Given the description of an element on the screen output the (x, y) to click on. 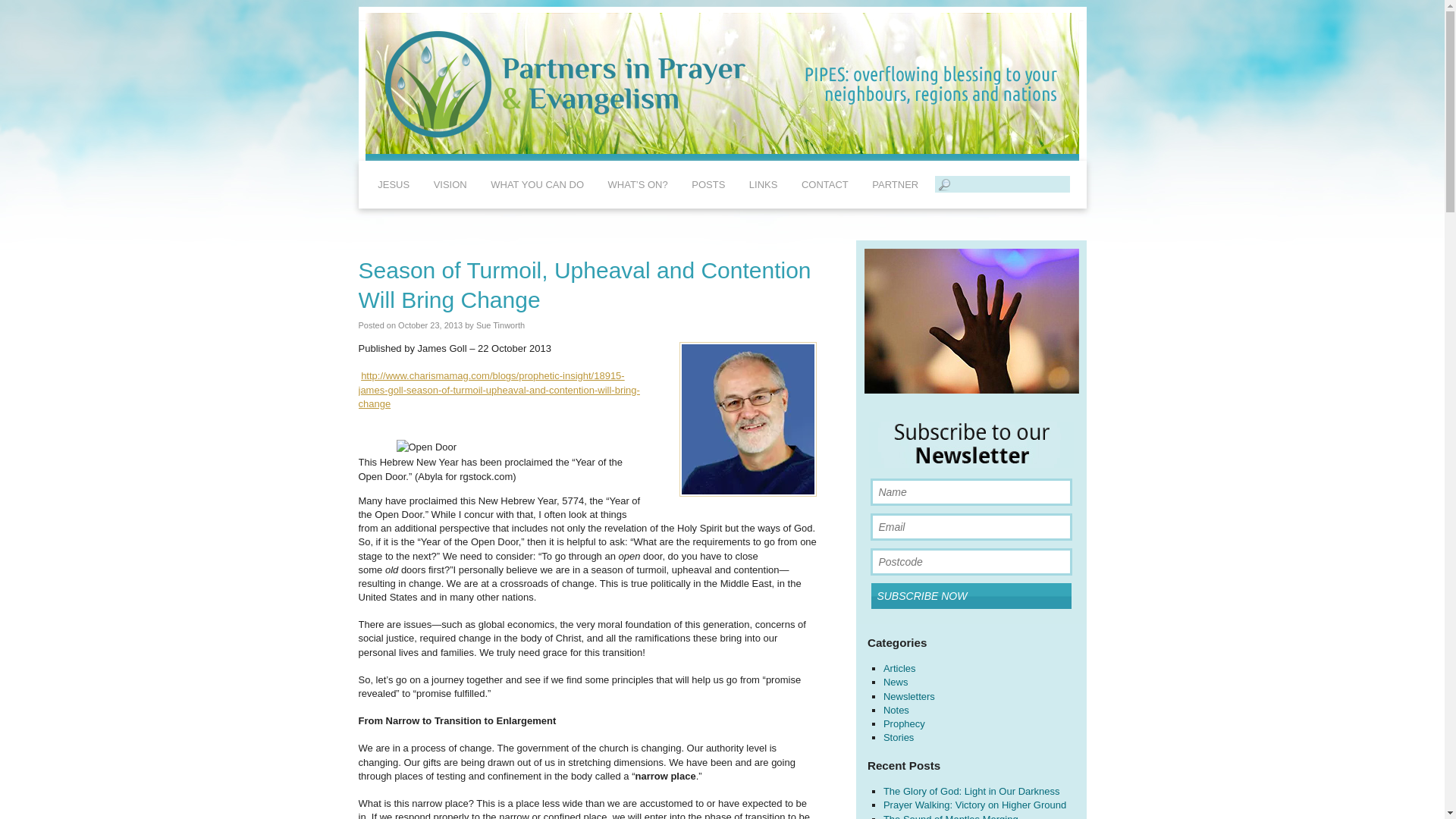
Newsletters (908, 696)
The Glory of God: Light in Our Darkness (971, 790)
SUBSCRIBE NOW (970, 596)
WHAT YOU CAN DO (537, 184)
CONTACT (824, 184)
JESUS (392, 184)
POSTS (707, 184)
PARTNER (895, 184)
Articles (899, 668)
Prophecy (903, 723)
Search (21, 7)
News (895, 681)
Key prophetic words for nation of Australia (903, 723)
Prayer Walking: Victory on Higher Ground (974, 804)
Articles (899, 668)
